Given the description of an element on the screen output the (x, y) to click on. 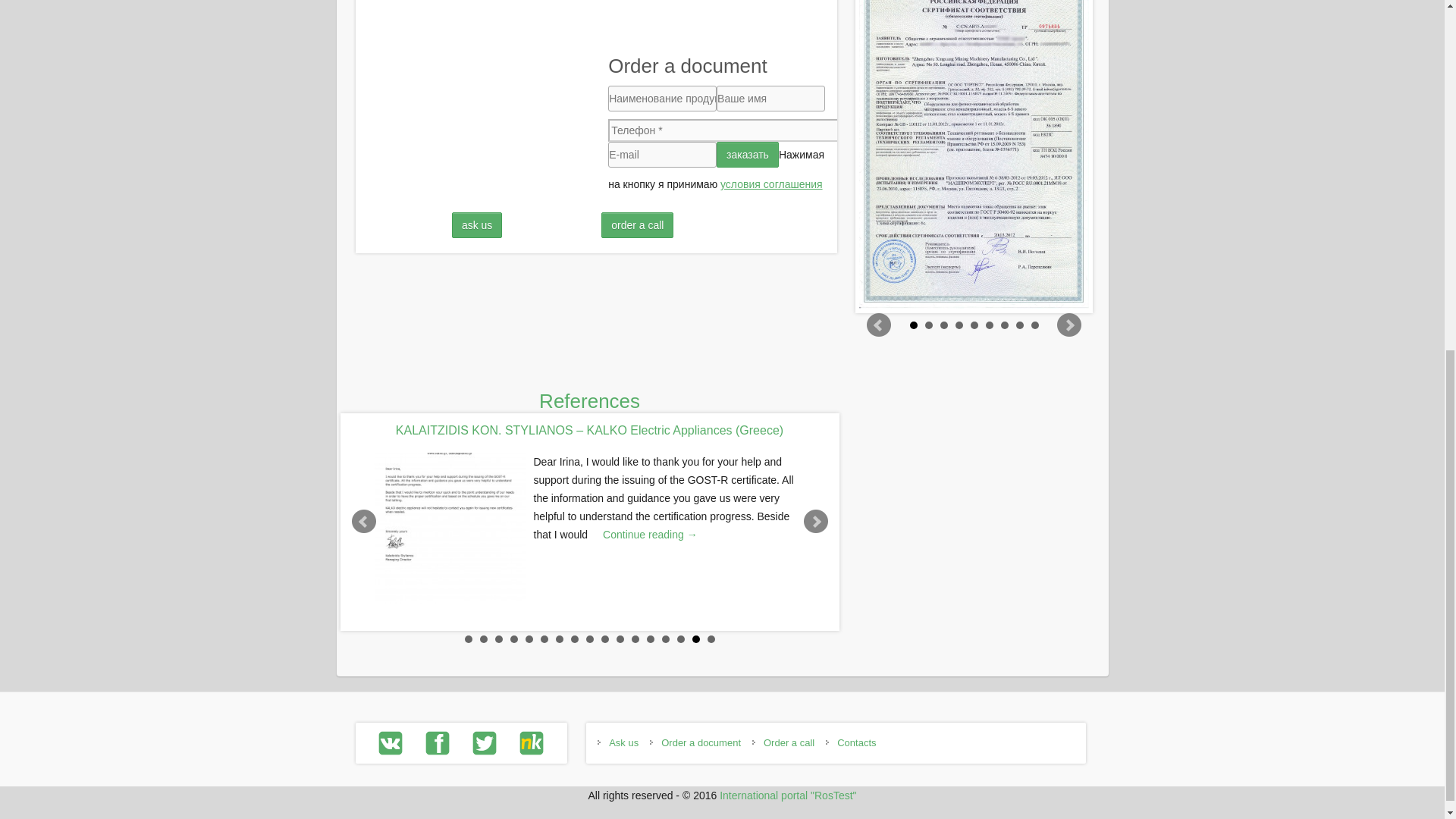
ask us (476, 225)
order a call (636, 225)
